Given the description of an element on the screen output the (x, y) to click on. 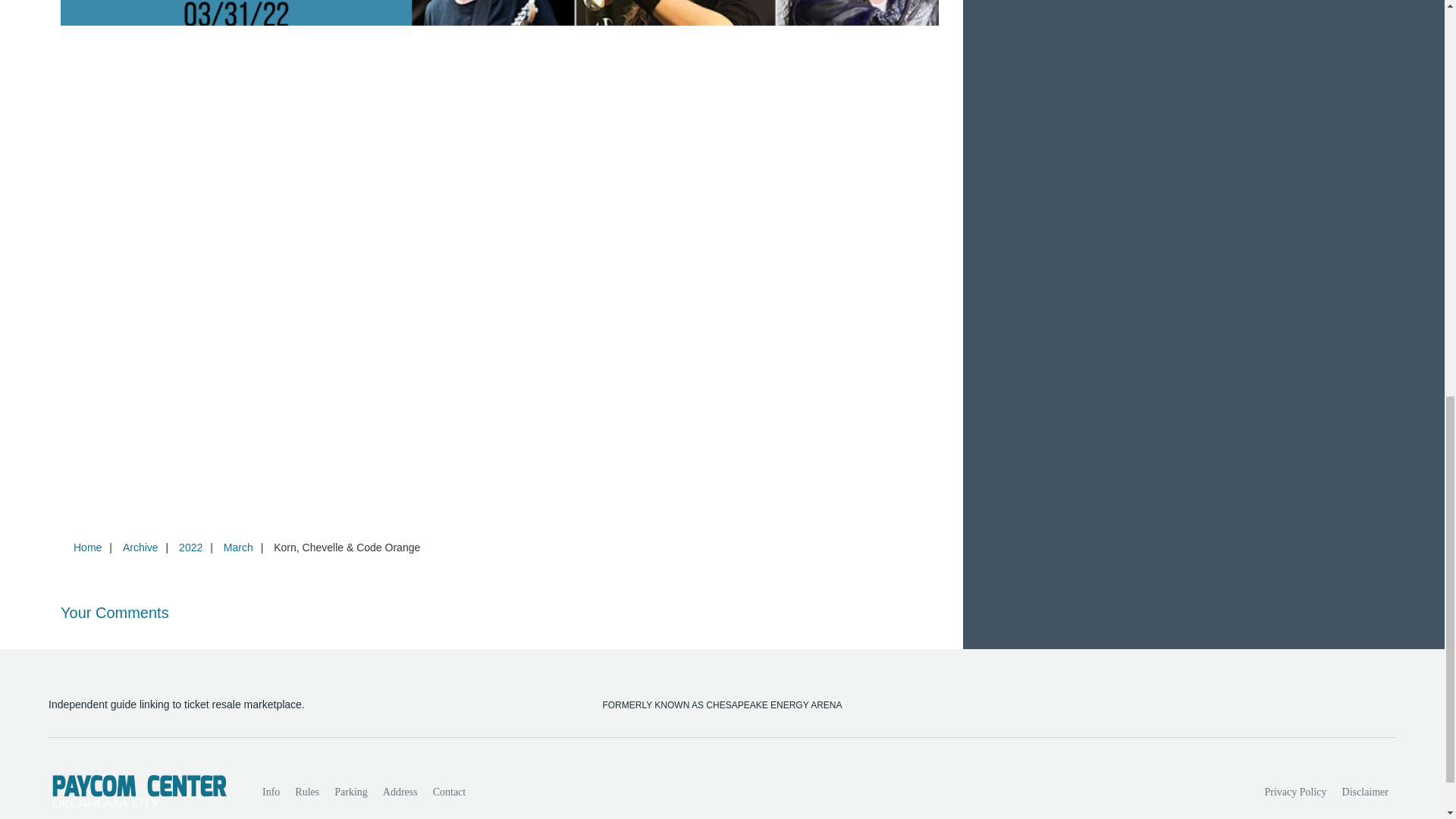
Disclaimer (1365, 792)
2022 (190, 547)
Home (87, 547)
Privacy Policy (1296, 792)
Contact (449, 792)
Archive (140, 547)
VIEW ALL EVENTS (1203, 2)
Parking (350, 792)
Rules (306, 792)
Address (400, 792)
Info (270, 792)
March (237, 547)
